Given the description of an element on the screen output the (x, y) to click on. 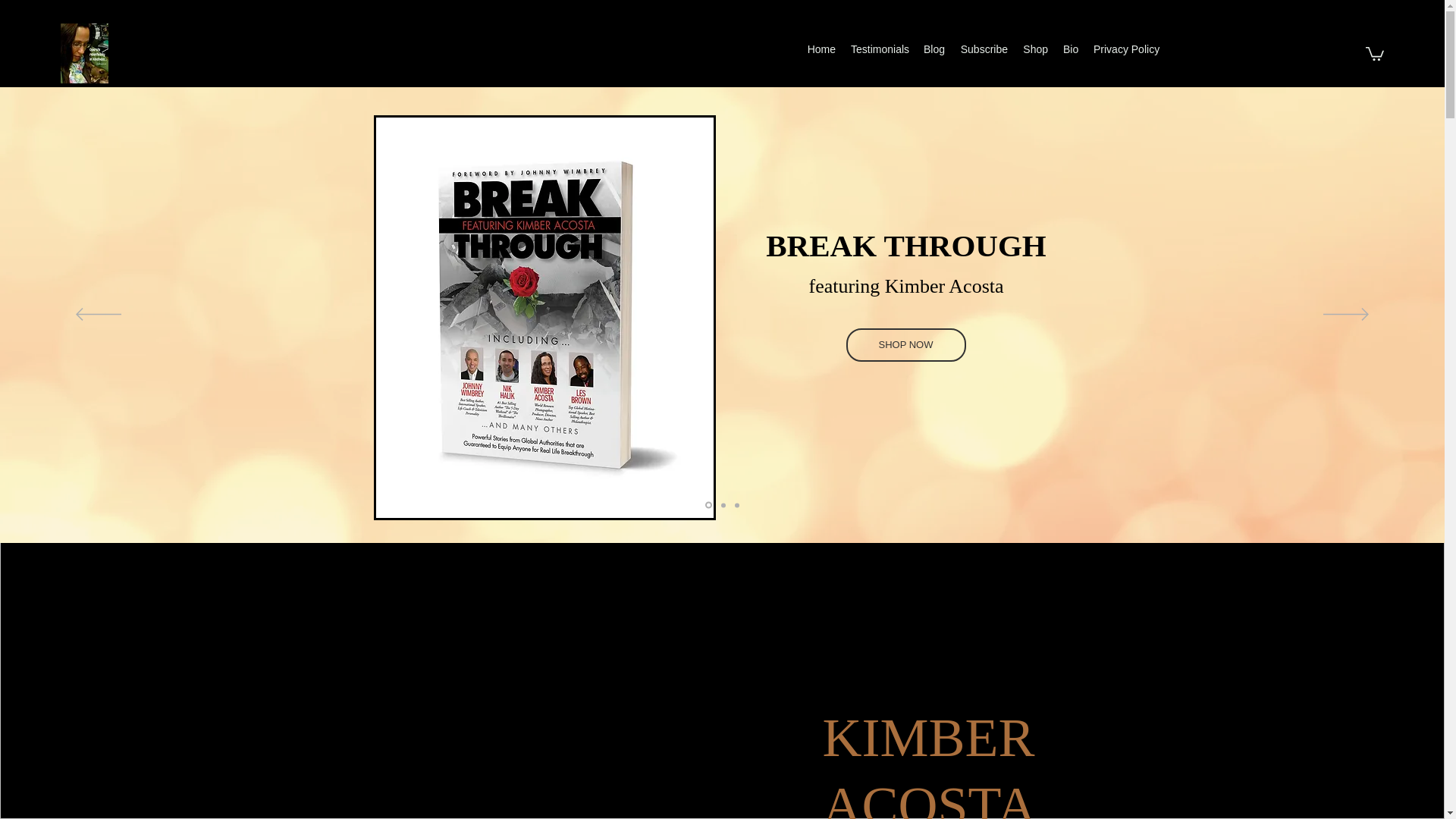
Blog (933, 48)
Testimonials (879, 48)
Shop (1034, 48)
Bio (1070, 48)
Home (821, 48)
SHOP NOW (905, 344)
Privacy Policy (1123, 48)
Subscribe (983, 48)
